Given the description of an element on the screen output the (x, y) to click on. 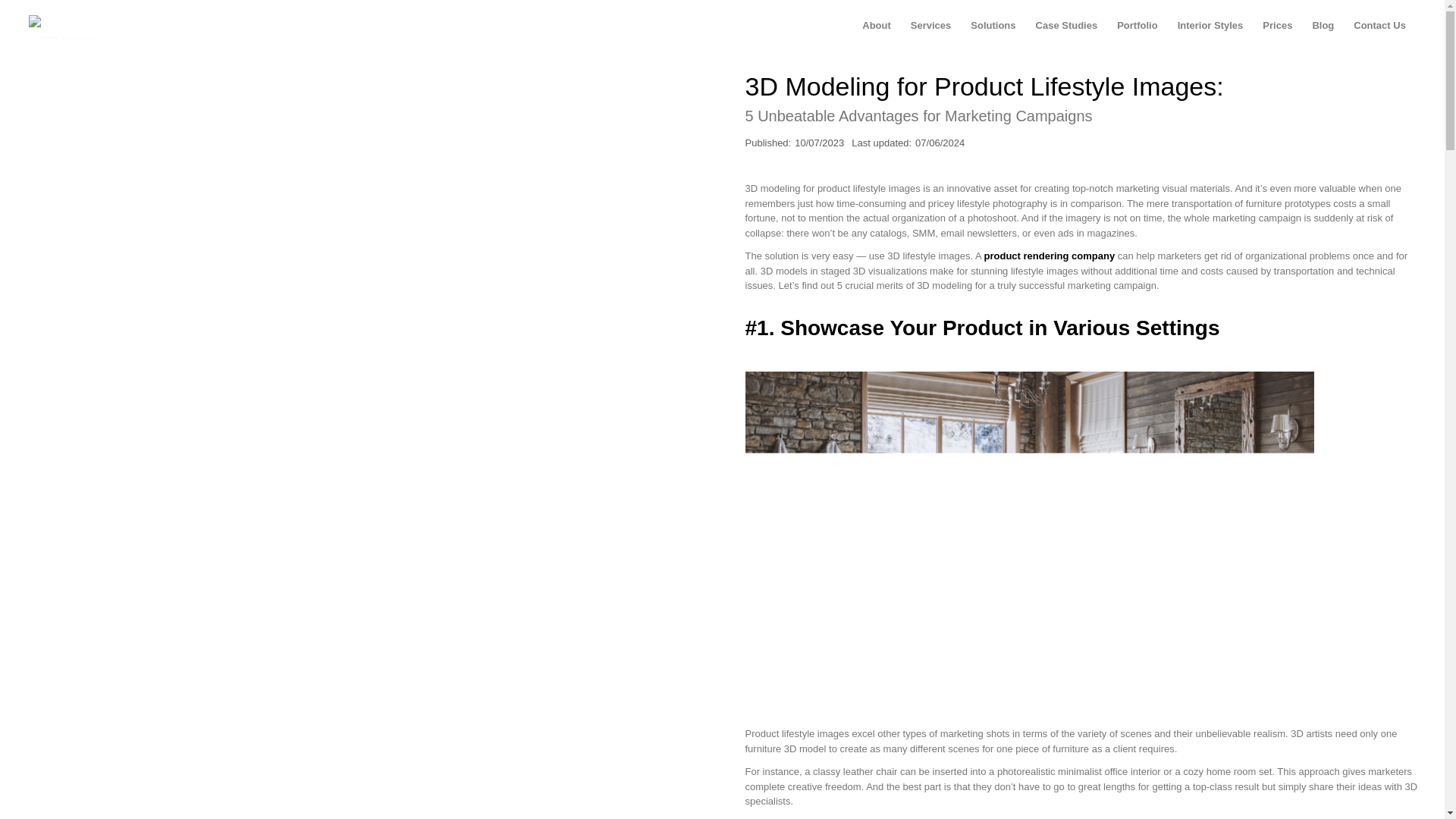
Case Studies (1067, 25)
Prices (1276, 25)
Portfolio (1136, 25)
About (876, 25)
Contact Us (1379, 25)
product rendering company (1049, 255)
Solutions (992, 25)
Services (930, 25)
Interior Styles (1210, 25)
